Given the description of an element on the screen output the (x, y) to click on. 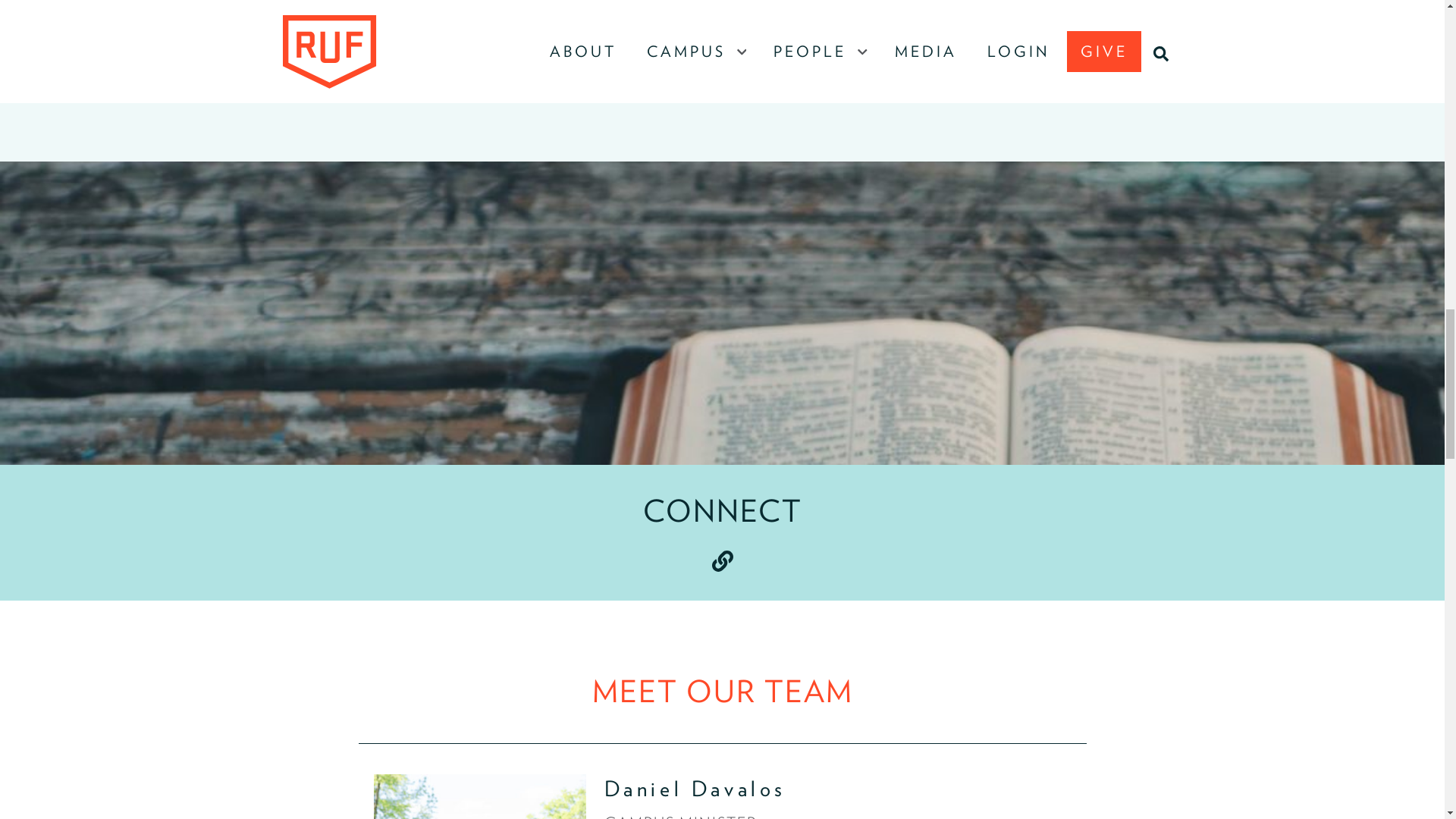
SUBSCRIBE TO OUR NEWSLETTER (721, 72)
website (721, 560)
